Given the description of an element on the screen output the (x, y) to click on. 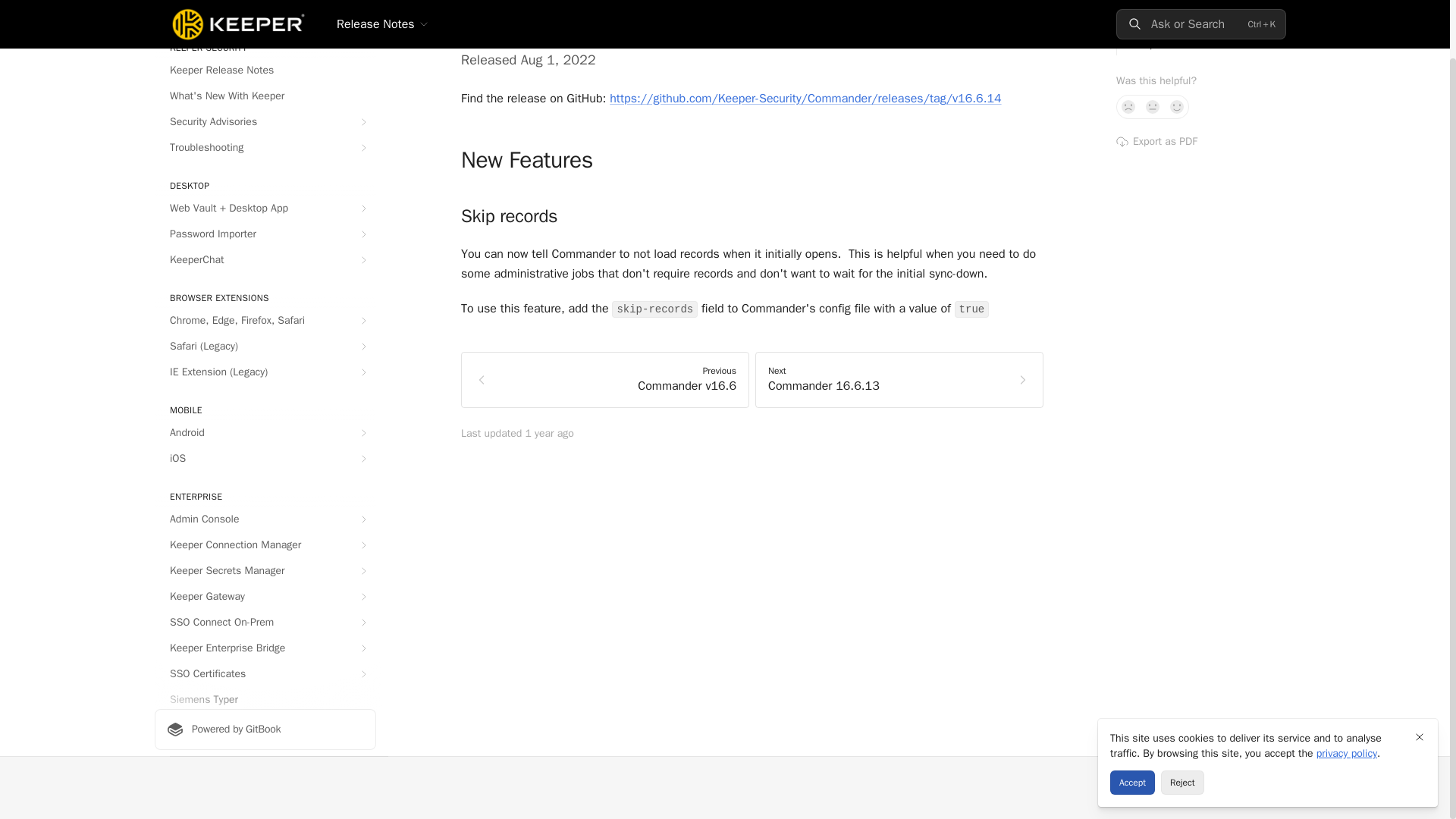
No (1128, 106)
Yes, it was! (1176, 106)
Latest Updates from Keeper (264, 11)
Close (1419, 674)
Troubleshooting (264, 147)
What's New With Keeper (264, 96)
Keeper Release Notes (264, 70)
Not sure (1152, 106)
Security Advisories (264, 121)
